Given the description of an element on the screen output the (x, y) to click on. 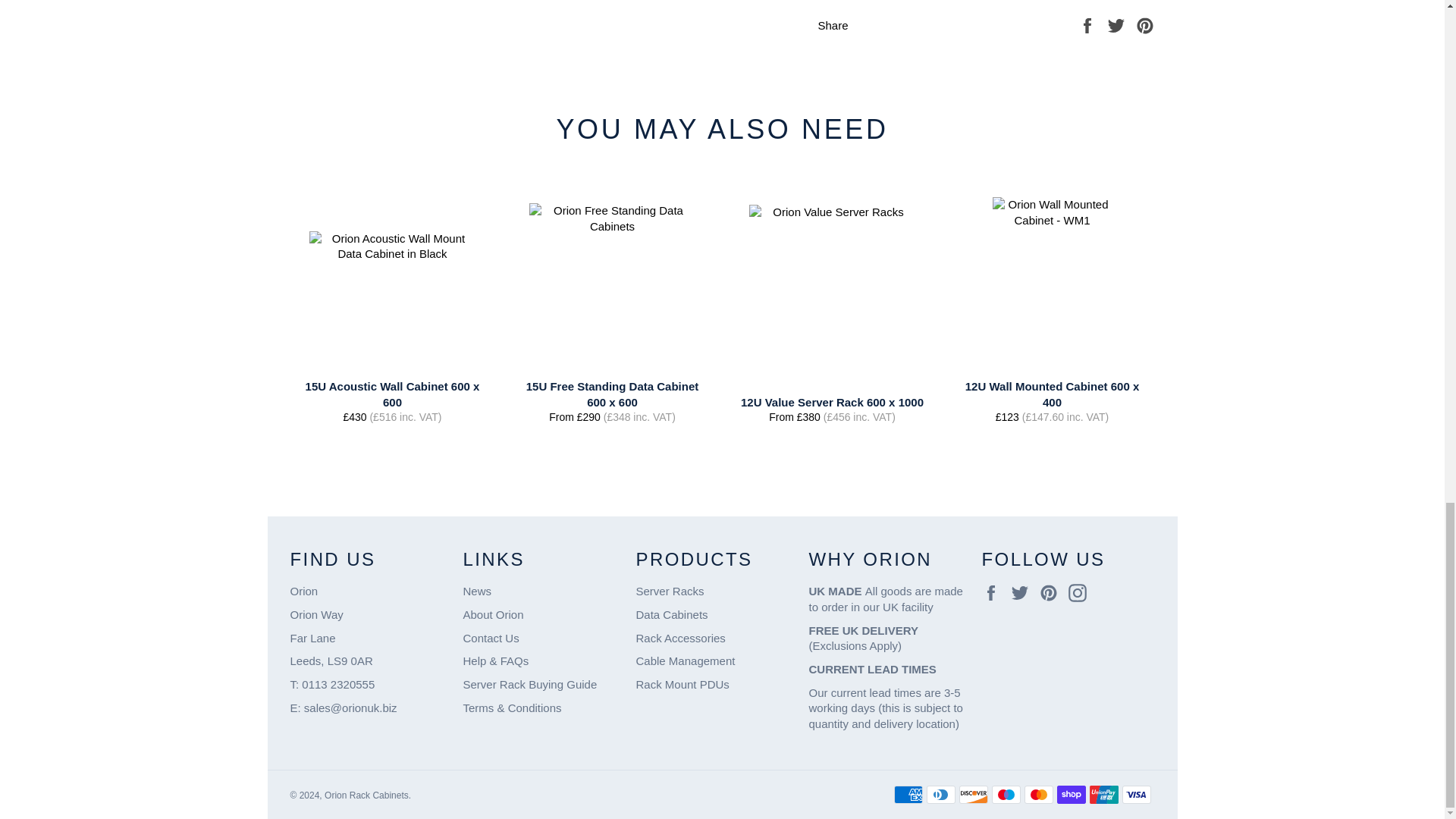
Share on Facebook (1088, 24)
Orion Rack Cabinets on Instagram (1081, 592)
Accessories (679, 637)
Cable Management (684, 660)
Orion Rack Cabinets on Pinterest (1052, 592)
Pin on Pinterest (1144, 24)
Server Racks (668, 590)
Power (681, 684)
Tweet on Twitter (1117, 24)
Data Cabinets (670, 614)
Orion Rack Cabinets on Twitter (1023, 592)
Orion Rack Cabinets on Facebook (994, 592)
